Given the description of an element on the screen output the (x, y) to click on. 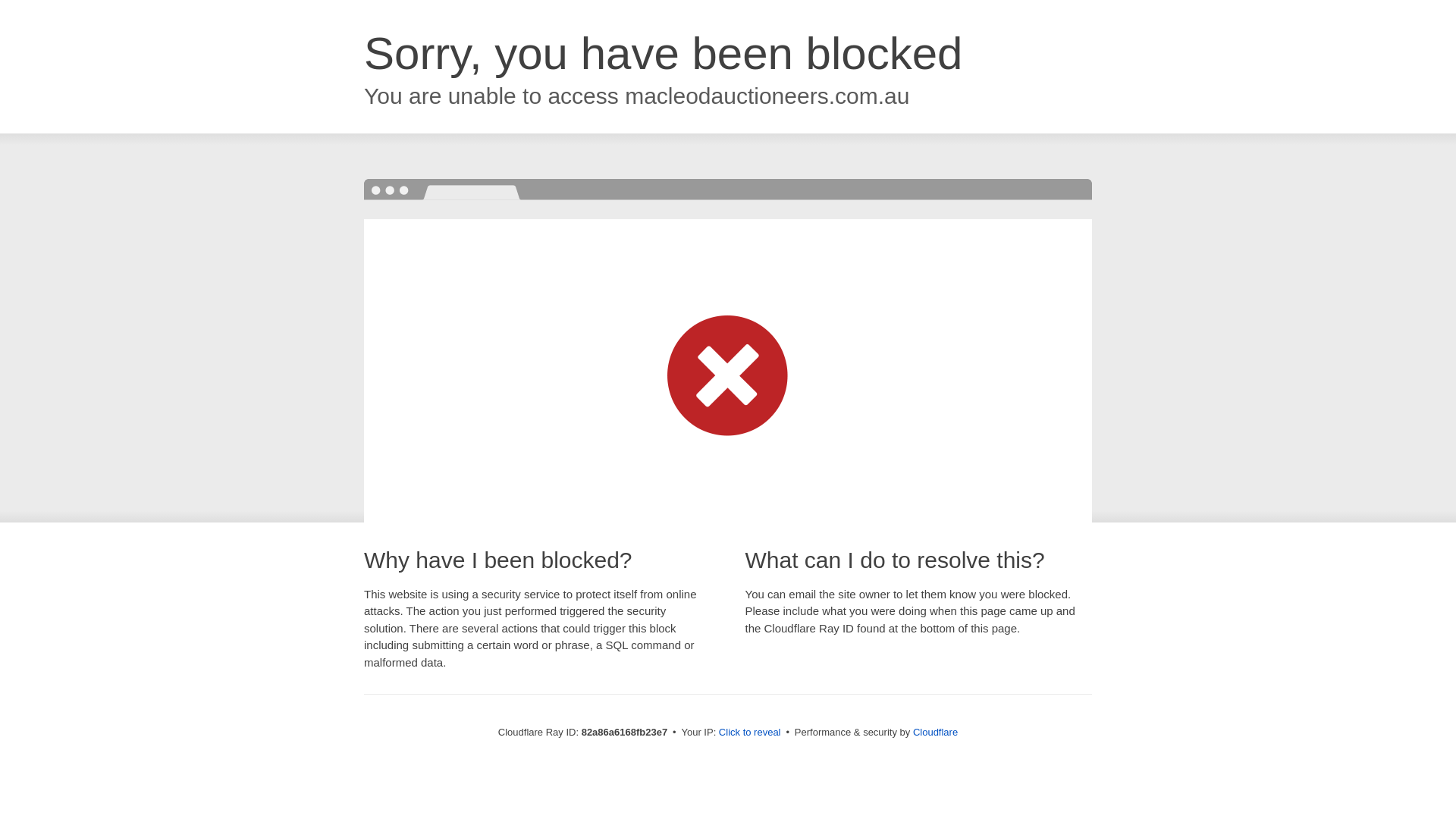
Click to reveal Element type: text (749, 732)
Cloudflare Element type: text (935, 731)
